Given the description of an element on the screen output the (x, y) to click on. 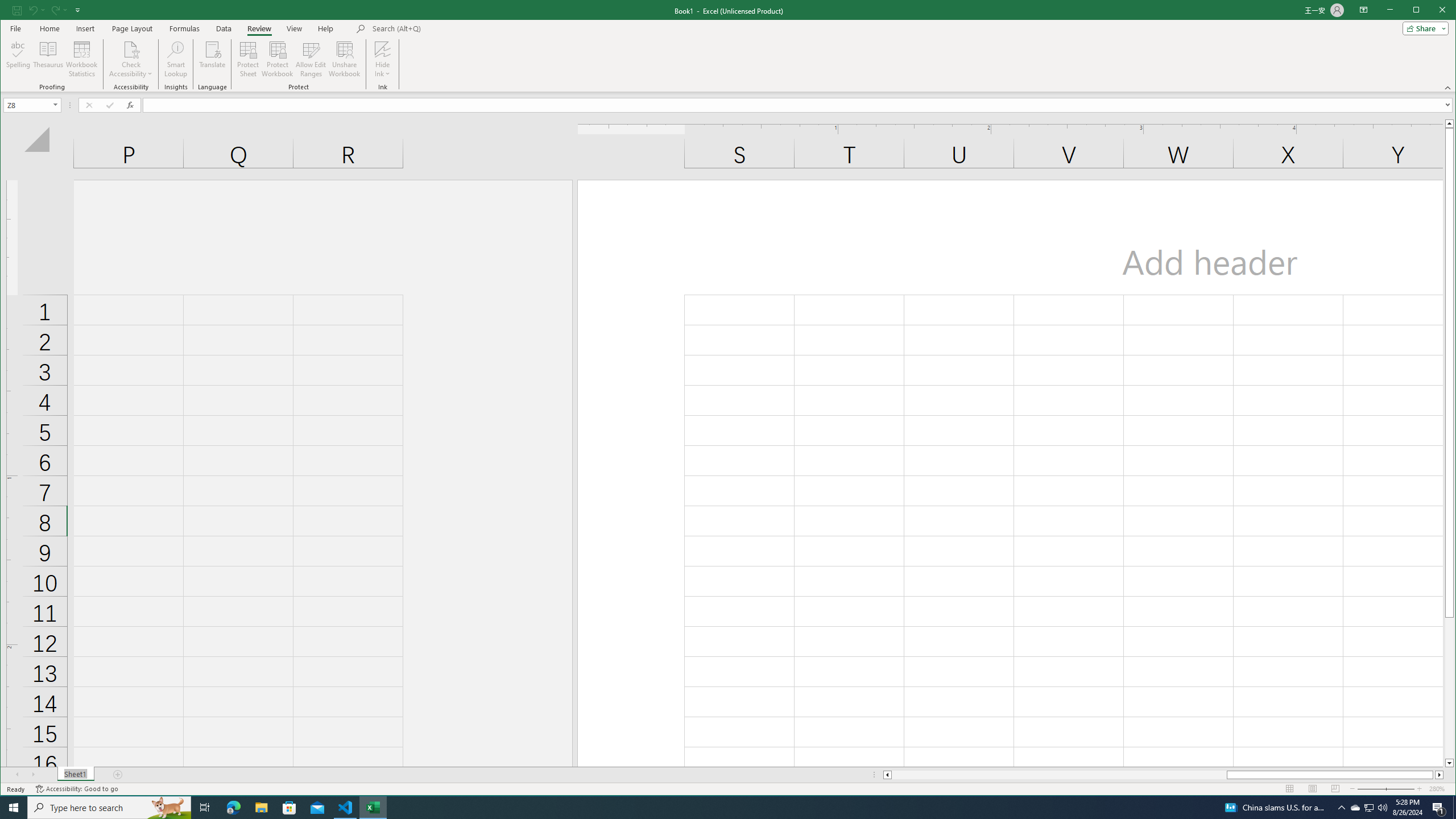
Q2790: 100% (1355, 807)
Running applications (1382, 807)
Excel - 1 running window (717, 807)
